Given the description of an element on the screen output the (x, y) to click on. 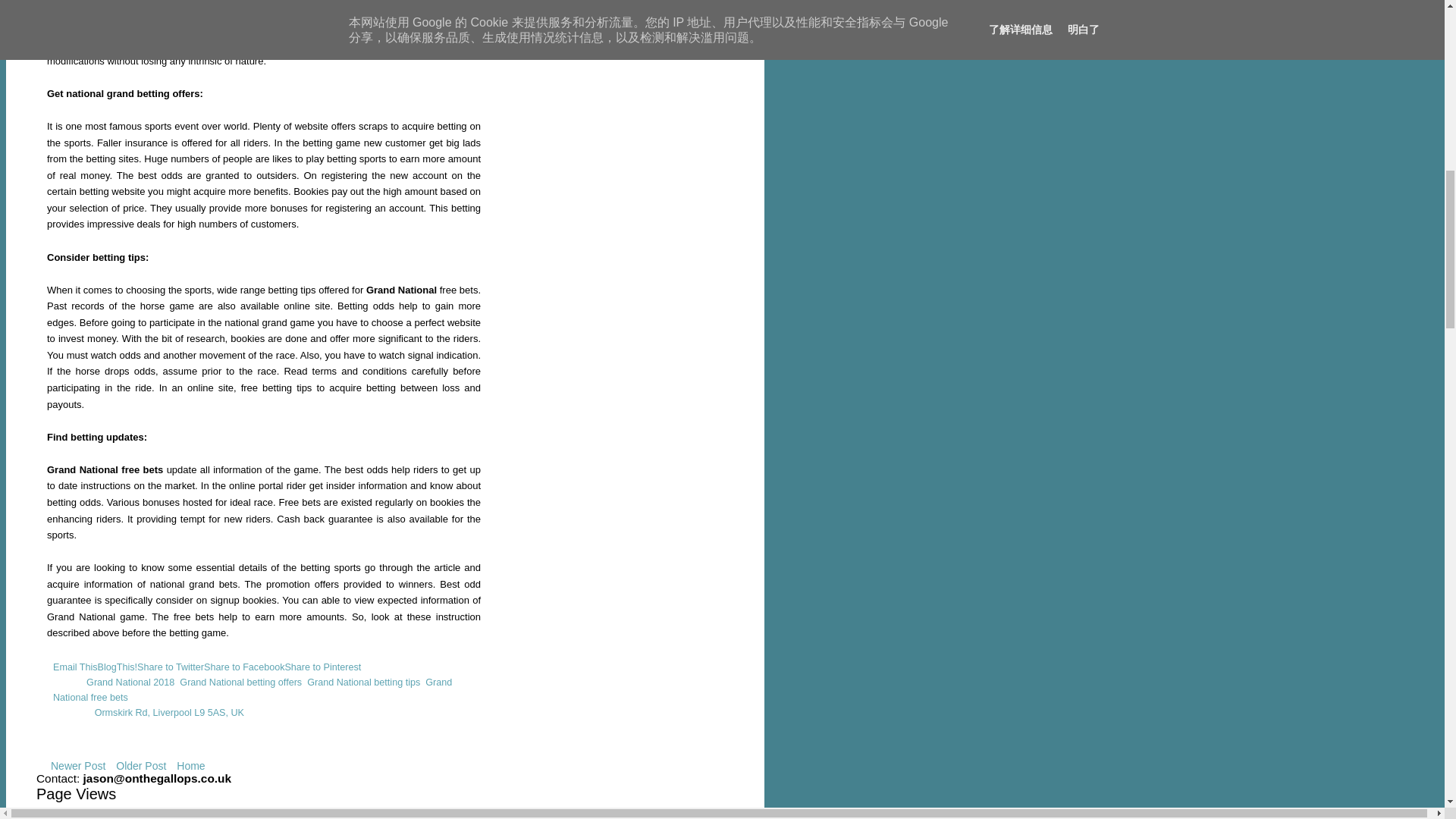
Grand National betting offers (240, 682)
Share to Facebook (243, 666)
Older Post (141, 765)
Share to Twitter (169, 666)
Grand National 2018 (129, 682)
Email This (74, 666)
Newer Post (77, 765)
Share to Pinterest (322, 666)
Newer Post (77, 765)
Email This (74, 666)
Share to Facebook (243, 666)
Grand National betting tips (363, 682)
BlogThis! (117, 666)
Share to Twitter (169, 666)
Older Post (141, 765)
